Given the description of an element on the screen output the (x, y) to click on. 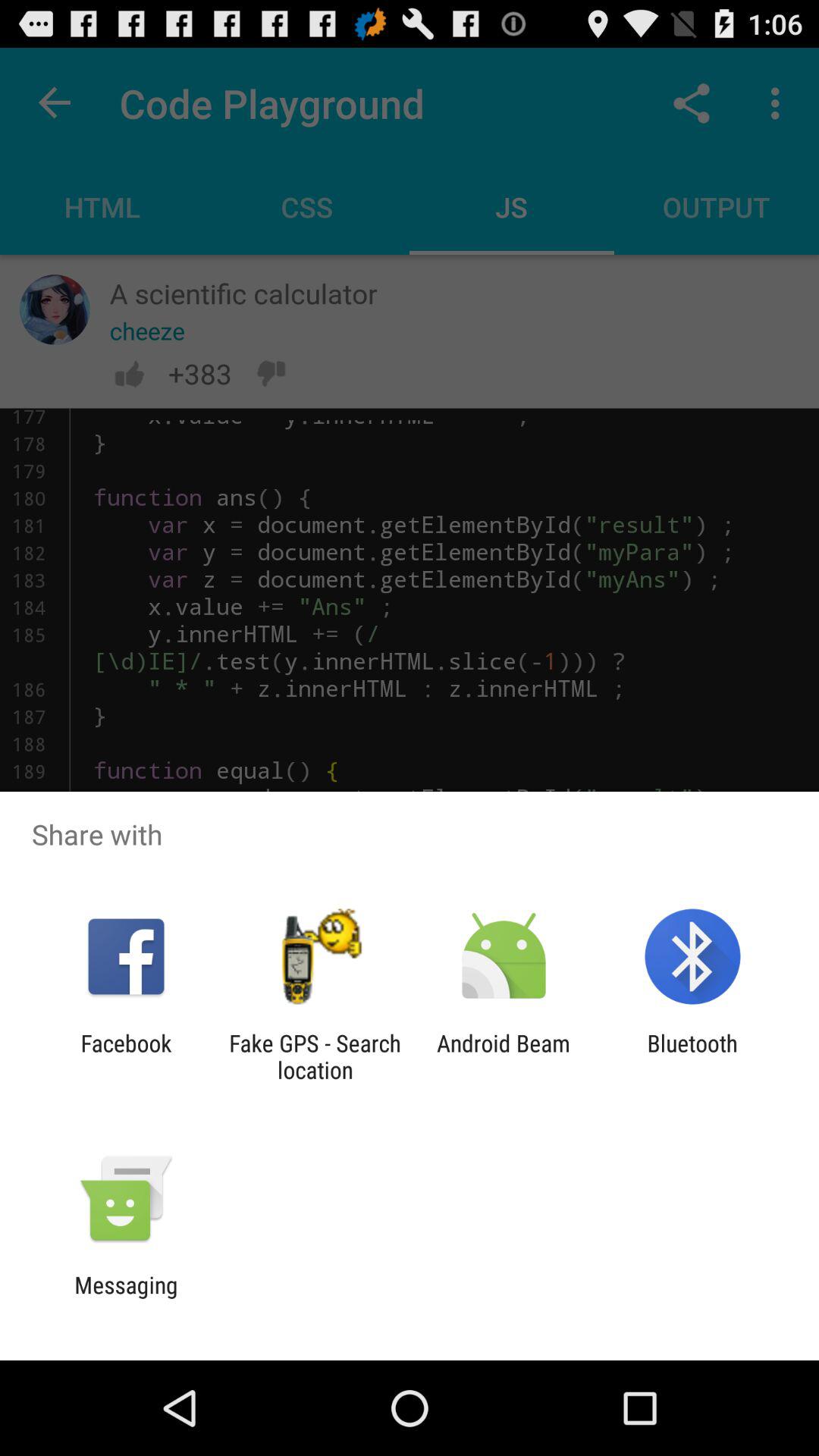
launch the item to the left of fake gps search icon (125, 1056)
